Given the description of an element on the screen output the (x, y) to click on. 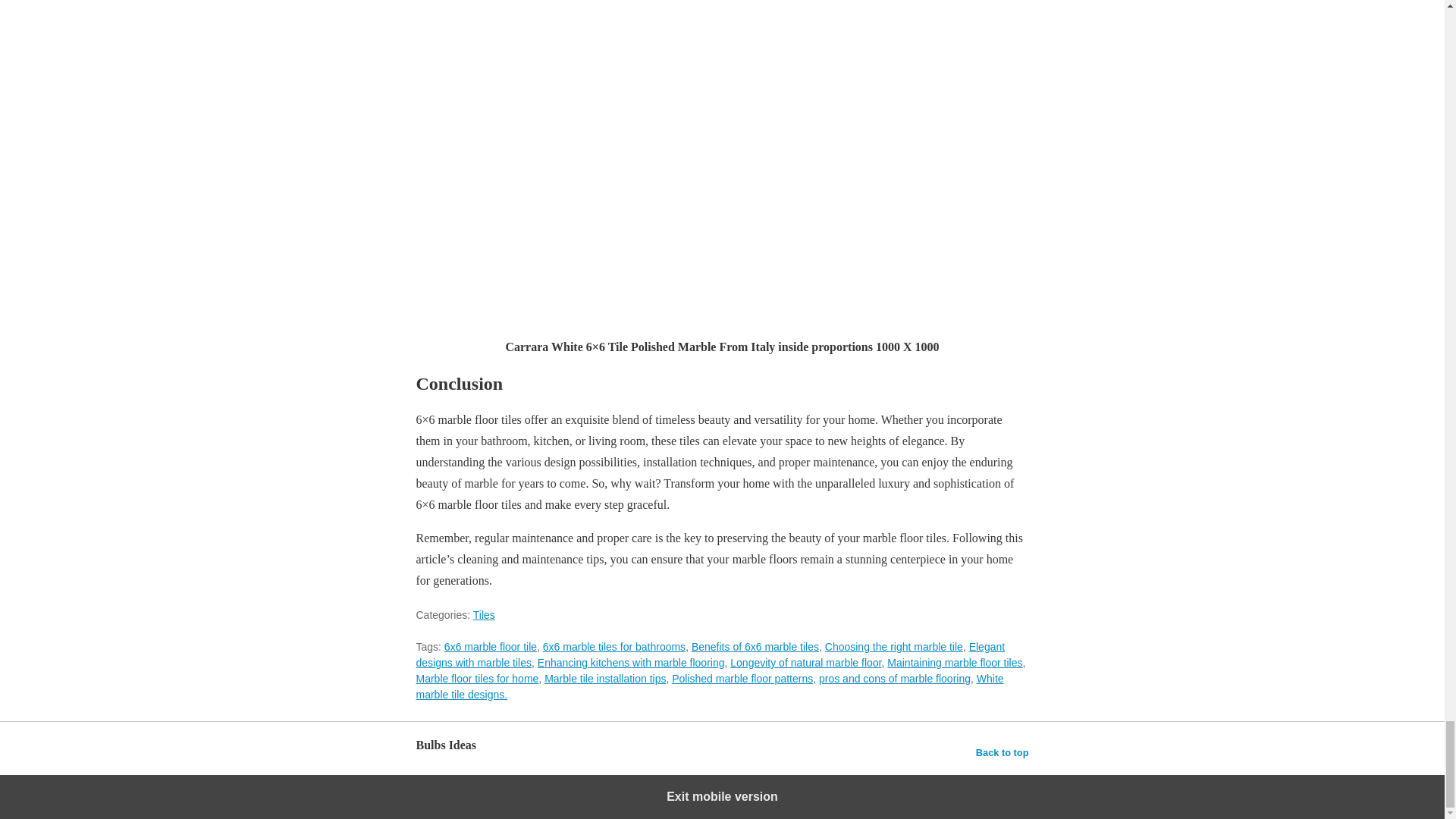
6x6 marble floor tile (490, 646)
Back to top (1002, 752)
Choosing the right marble tile (893, 646)
Benefits of 6x6 marble tiles (754, 646)
Longevity of natural marble floor (805, 662)
Marble floor tiles for home (476, 678)
Elegant designs with marble tiles (709, 654)
Maintaining marble floor tiles (954, 662)
pros and cons of marble flooring (894, 678)
Polished marble floor patterns (741, 678)
